Given the description of an element on the screen output the (x, y) to click on. 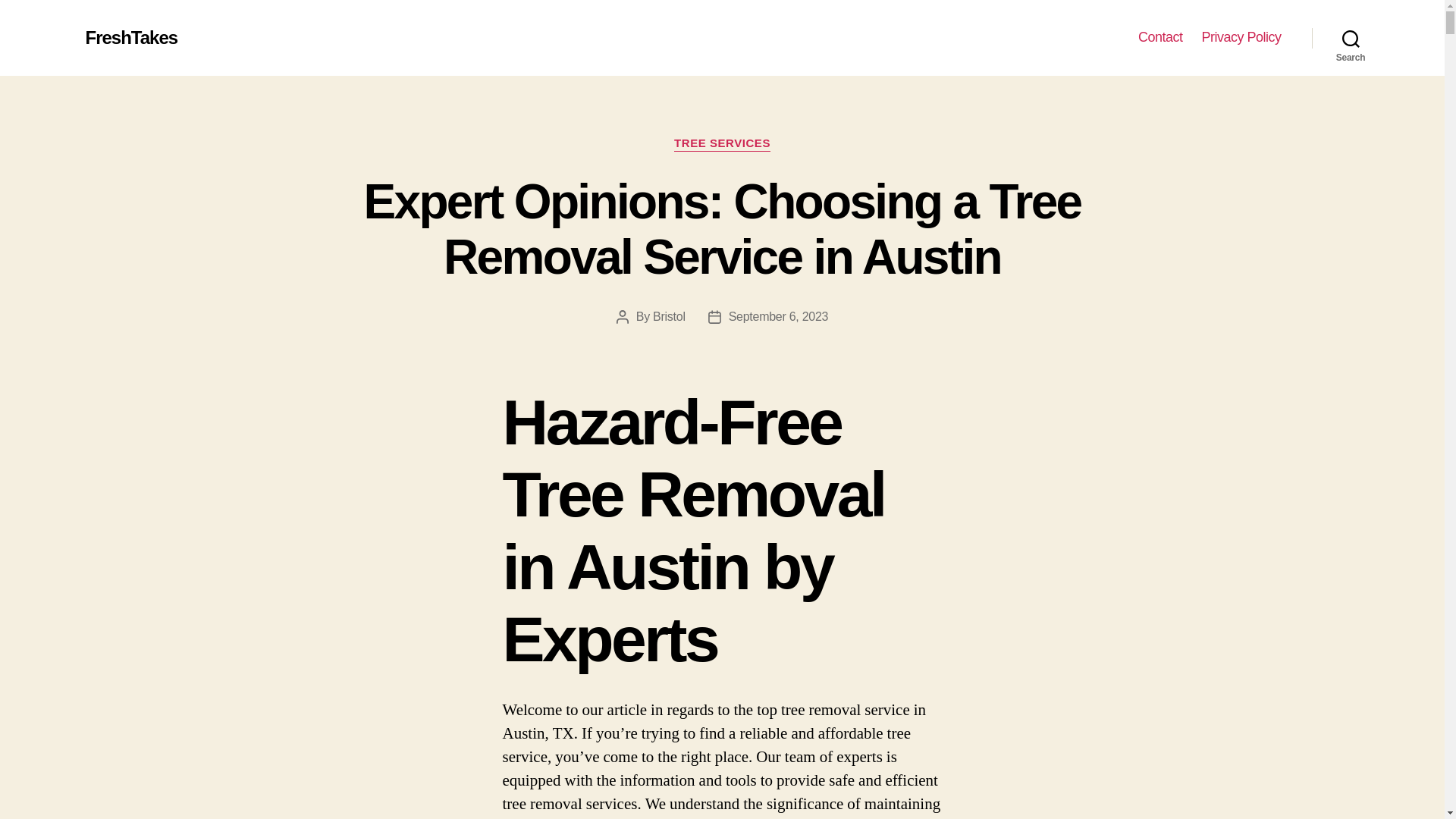
TREE SERVICES (722, 143)
Privacy Policy (1241, 37)
Search (1350, 37)
FreshTakes (130, 37)
Contact (1160, 37)
Expert Opinions: Choosing a Tree Removal Service in Austin (721, 229)
September 6, 2023 (778, 315)
Bristol (668, 315)
